Given the description of an element on the screen output the (x, y) to click on. 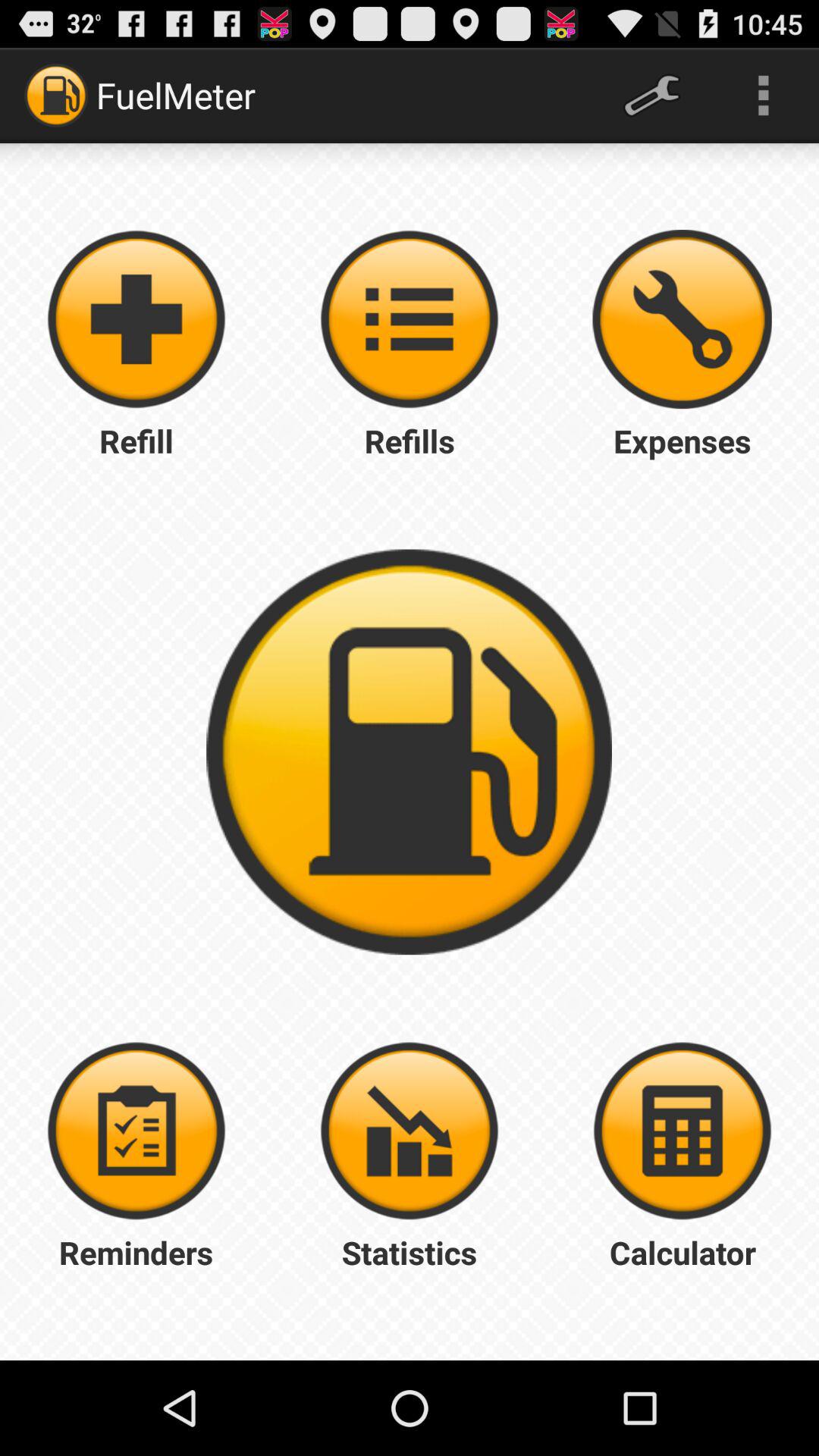
press app above the statistics icon (682, 1130)
